Given the description of an element on the screen output the (x, y) to click on. 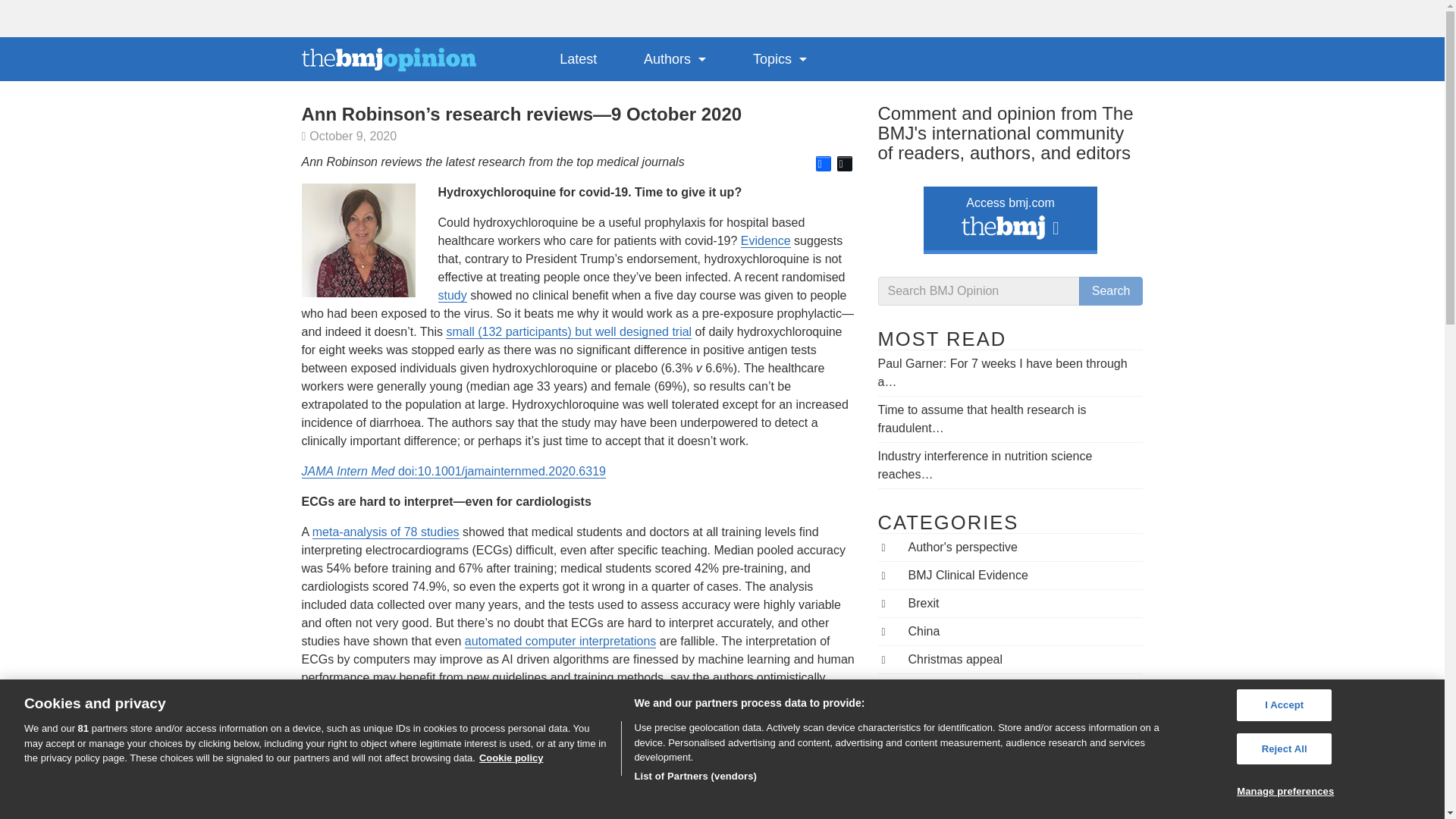
Search (1110, 290)
Search (1110, 290)
Topics (780, 58)
Topics (780, 58)
meta-analysis of 78 studies (386, 531)
Facebook (823, 163)
Authors (674, 58)
study (452, 295)
Authors (674, 58)
automated computer interpretations (560, 641)
Access bmj.com (1009, 216)
Latest (577, 58)
The BMJ (1002, 231)
Evidence (765, 241)
Latest (577, 58)
